Given the description of an element on the screen output the (x, y) to click on. 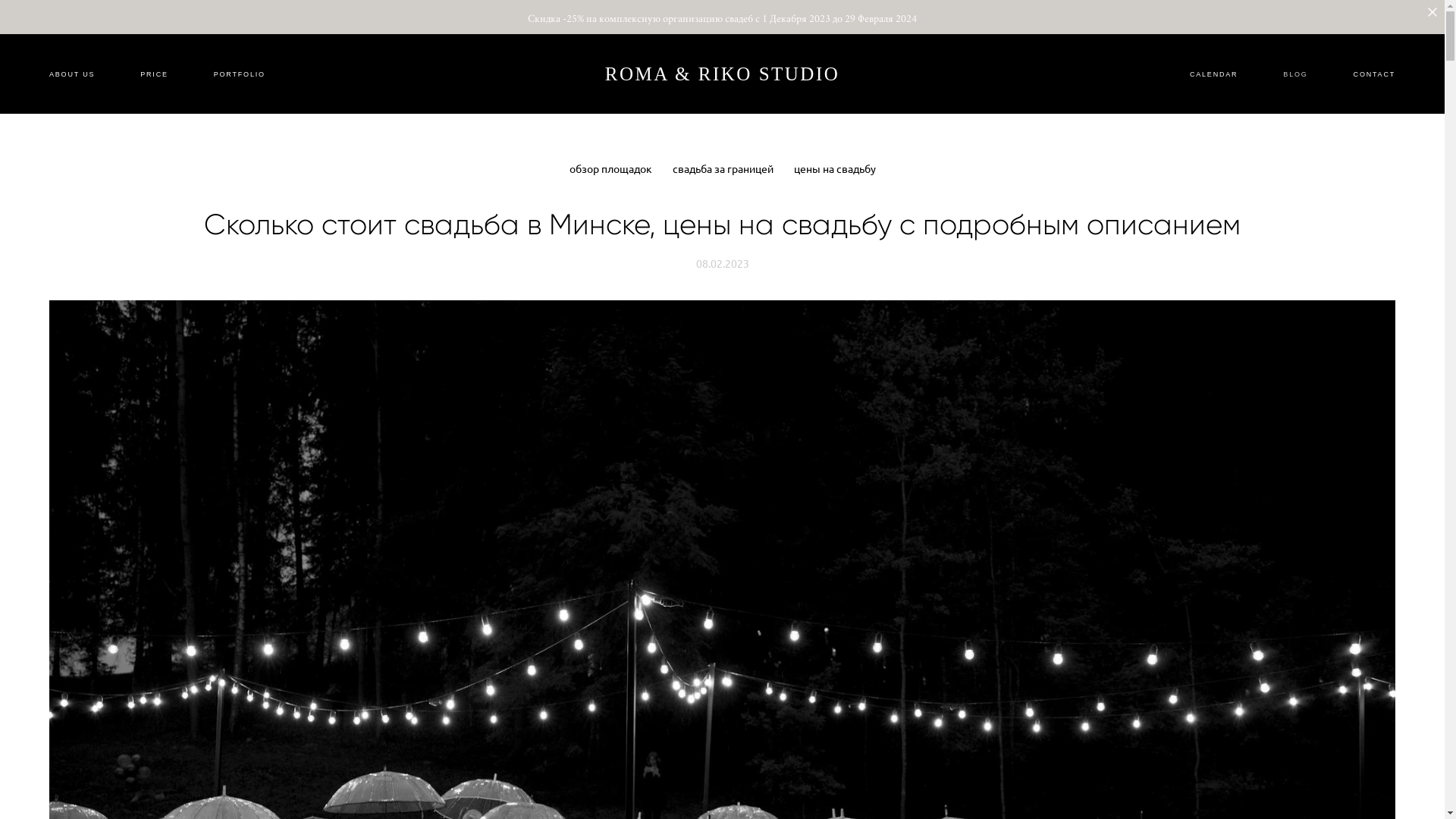
BLOG Element type: text (1295, 74)
ROMA & RIKO STUDIO Element type: text (722, 73)
CONTACT Element type: text (1374, 74)
PORTFOLIO Element type: text (239, 74)
ABOUT US Element type: text (71, 74)
PRICE Element type: text (154, 74)
CALENDAR Element type: text (1213, 74)
